Given the description of an element on the screen output the (x, y) to click on. 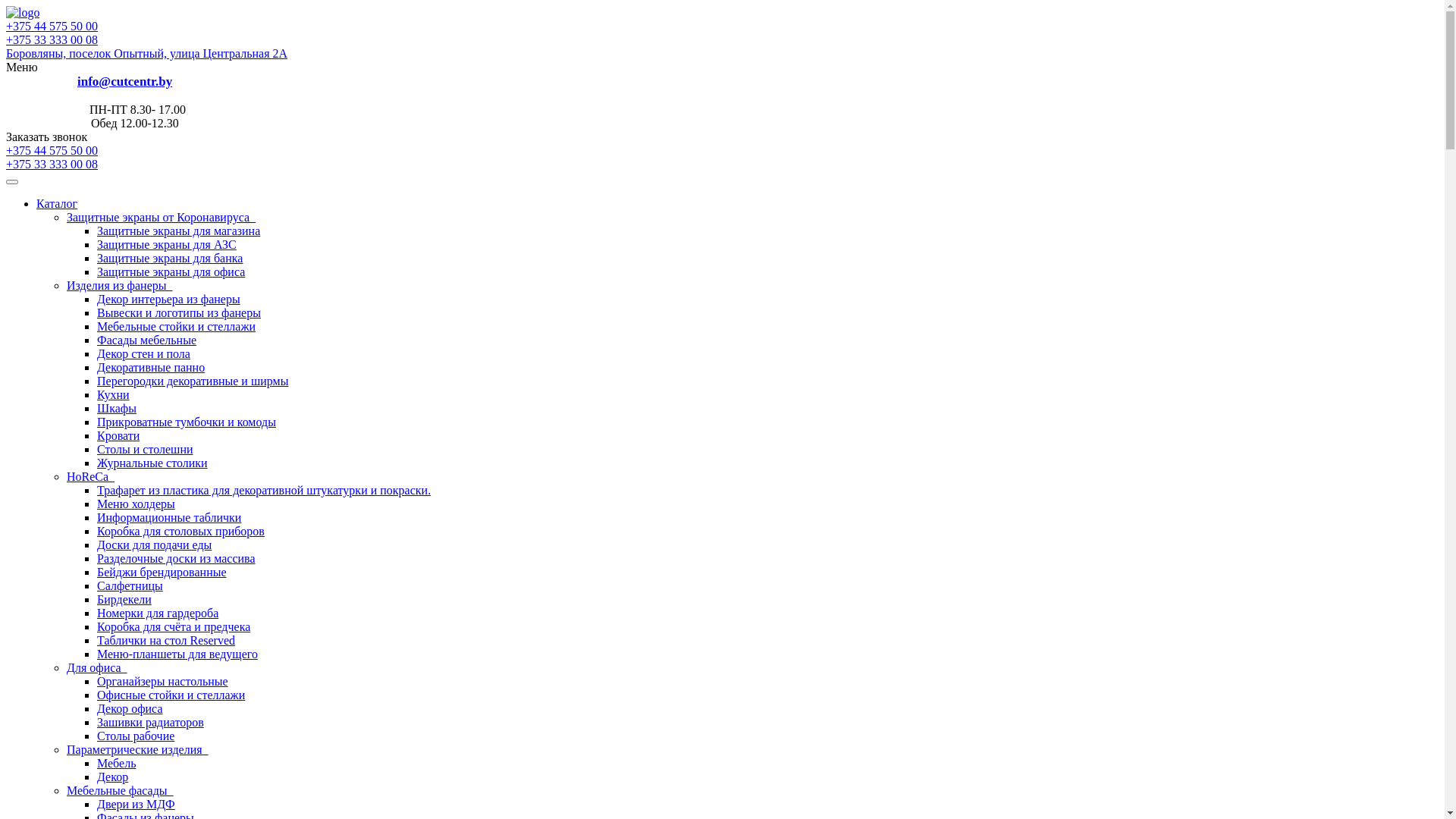
cutcentr.by Element type: hover (22, 12)
+375 33 333 00 08 Element type: text (51, 163)
+375 44 575 50 00 Element type: text (722, 150)
+375 33 333 00 08 Element type: text (51, 39)
info@cutcentr.by Element type: text (124, 81)
HoReCa   Element type: text (90, 476)
+375 44 575 50 00 Element type: text (722, 26)
